Given the description of an element on the screen output the (x, y) to click on. 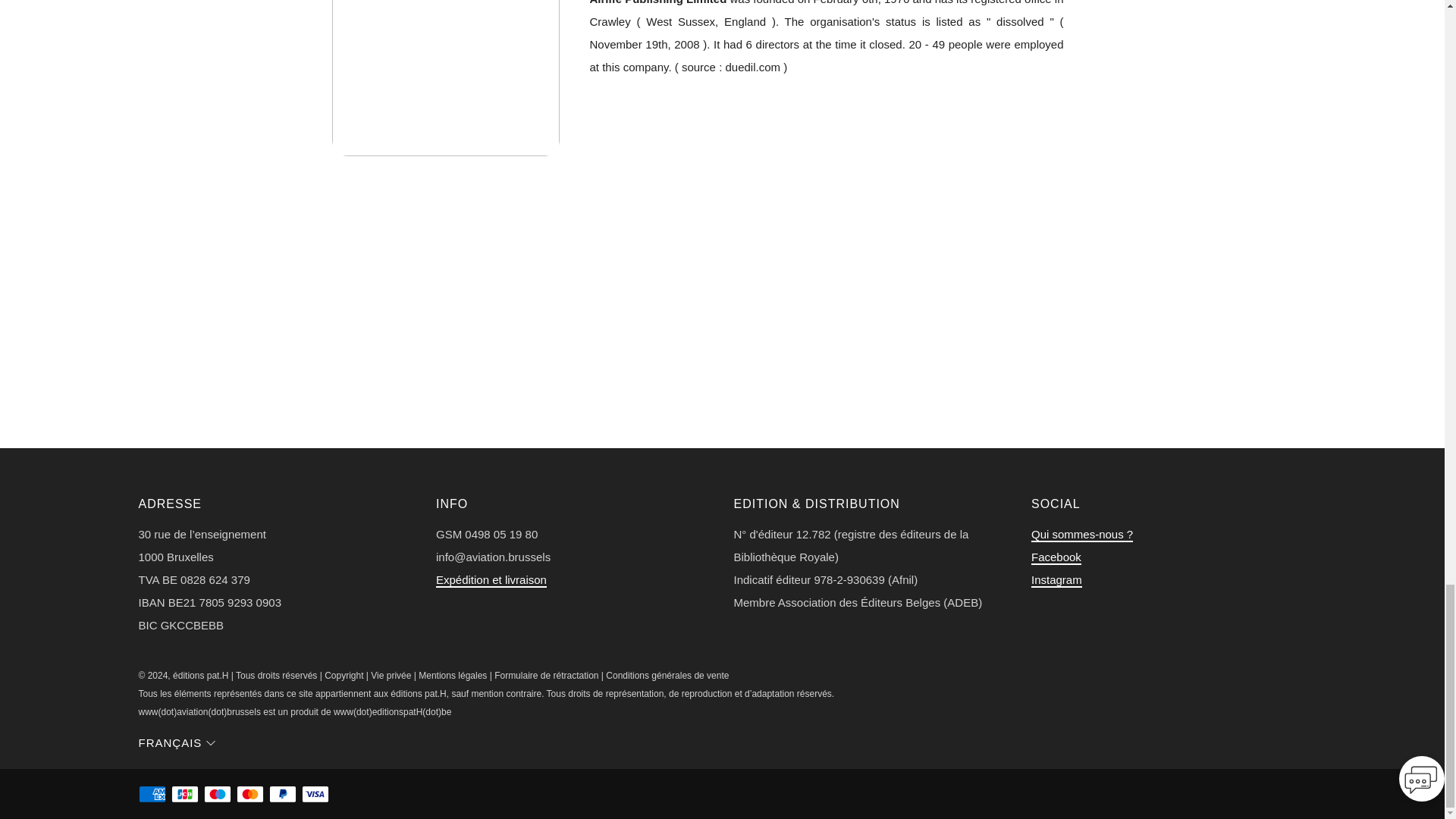
JCB (184, 794)
Maestro (217, 794)
Visa (315, 794)
Qui sommes-nous ? (1081, 534)
Mastercard (249, 794)
American Express (151, 794)
PayPal (283, 794)
